Given the description of an element on the screen output the (x, y) to click on. 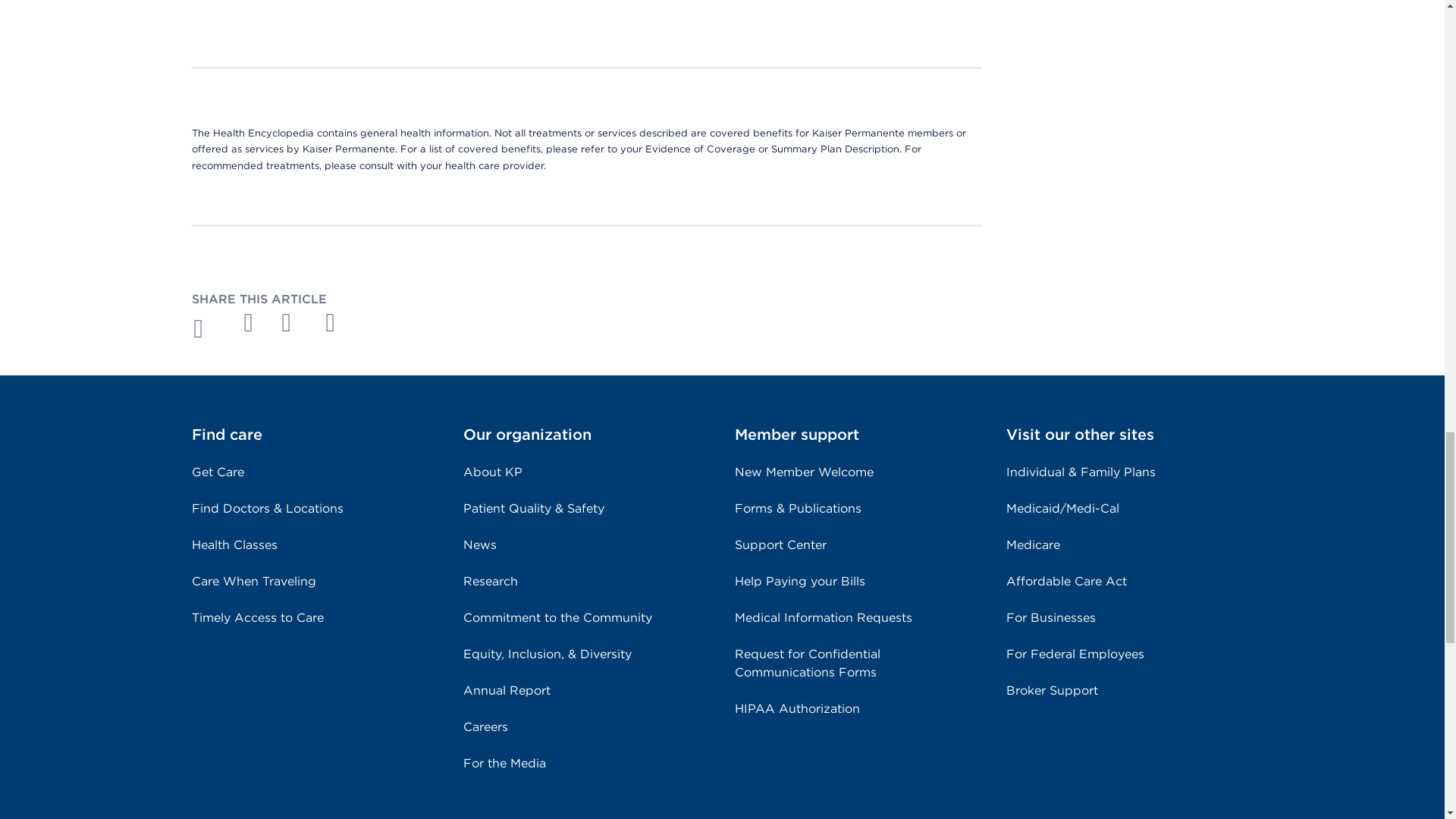
Opens in a new window, external (293, 322)
Opens in a new window, external (249, 322)
Opens in a new window, external (338, 322)
